Given the description of an element on the screen output the (x, y) to click on. 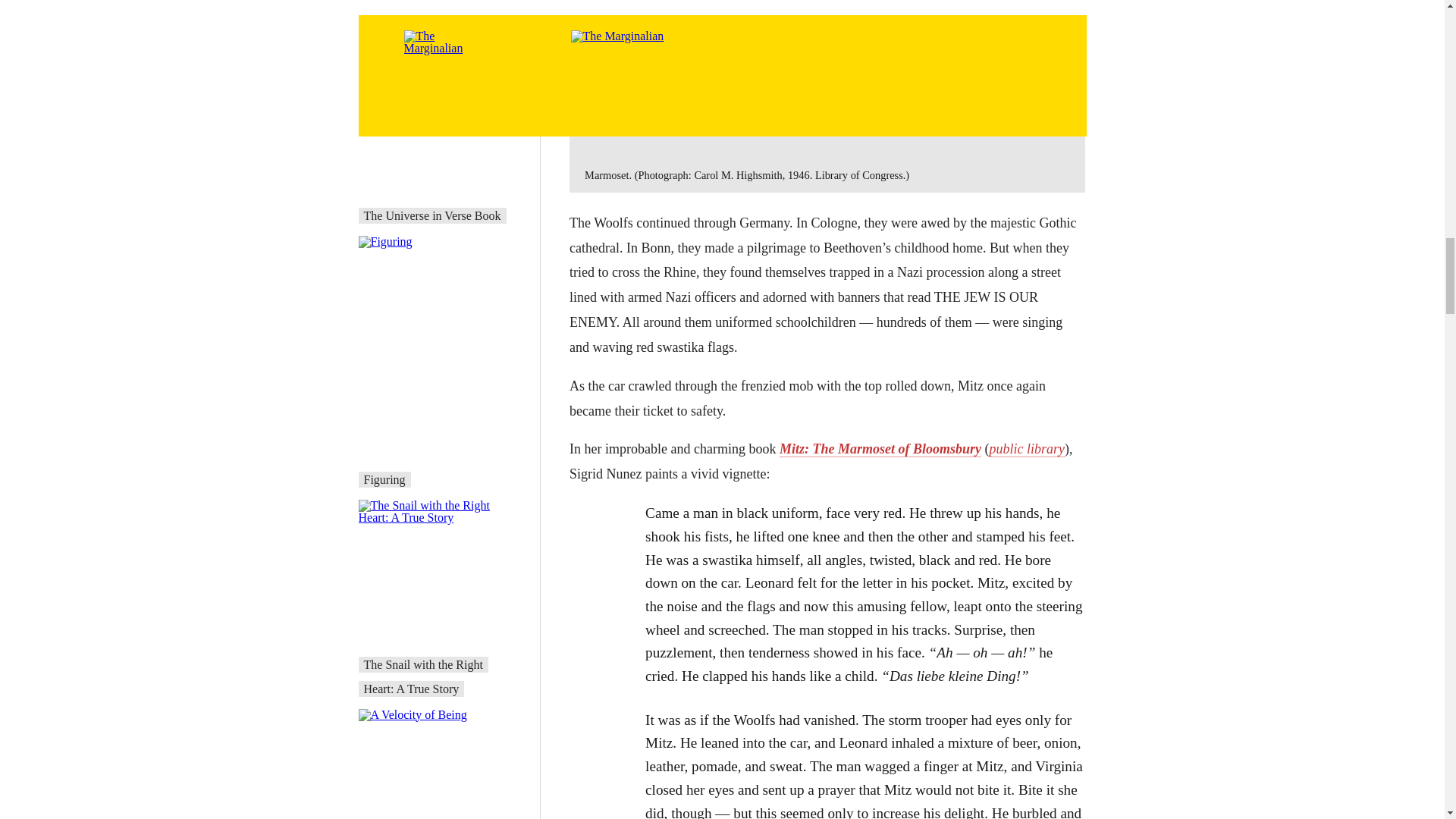
The Snail with the Right Heart: A True Story (423, 676)
The Universe in Verse Book (432, 215)
Figuring (385, 479)
